Given the description of an element on the screen output the (x, y) to click on. 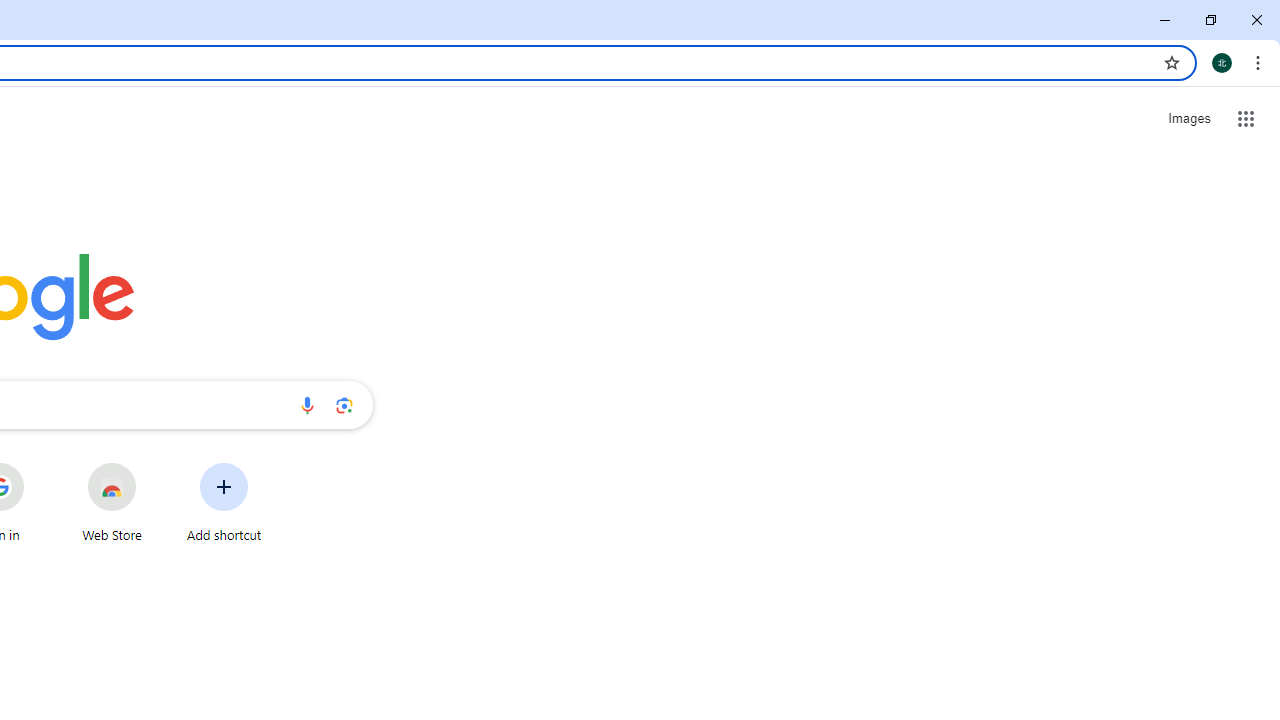
Search by voice (307, 404)
Search by image (344, 404)
More actions for Sign in shortcut (39, 464)
Add shortcut (223, 502)
Search for Images  (1188, 119)
Web Store (111, 502)
More actions for Web Store shortcut (152, 464)
